Given the description of an element on the screen output the (x, y) to click on. 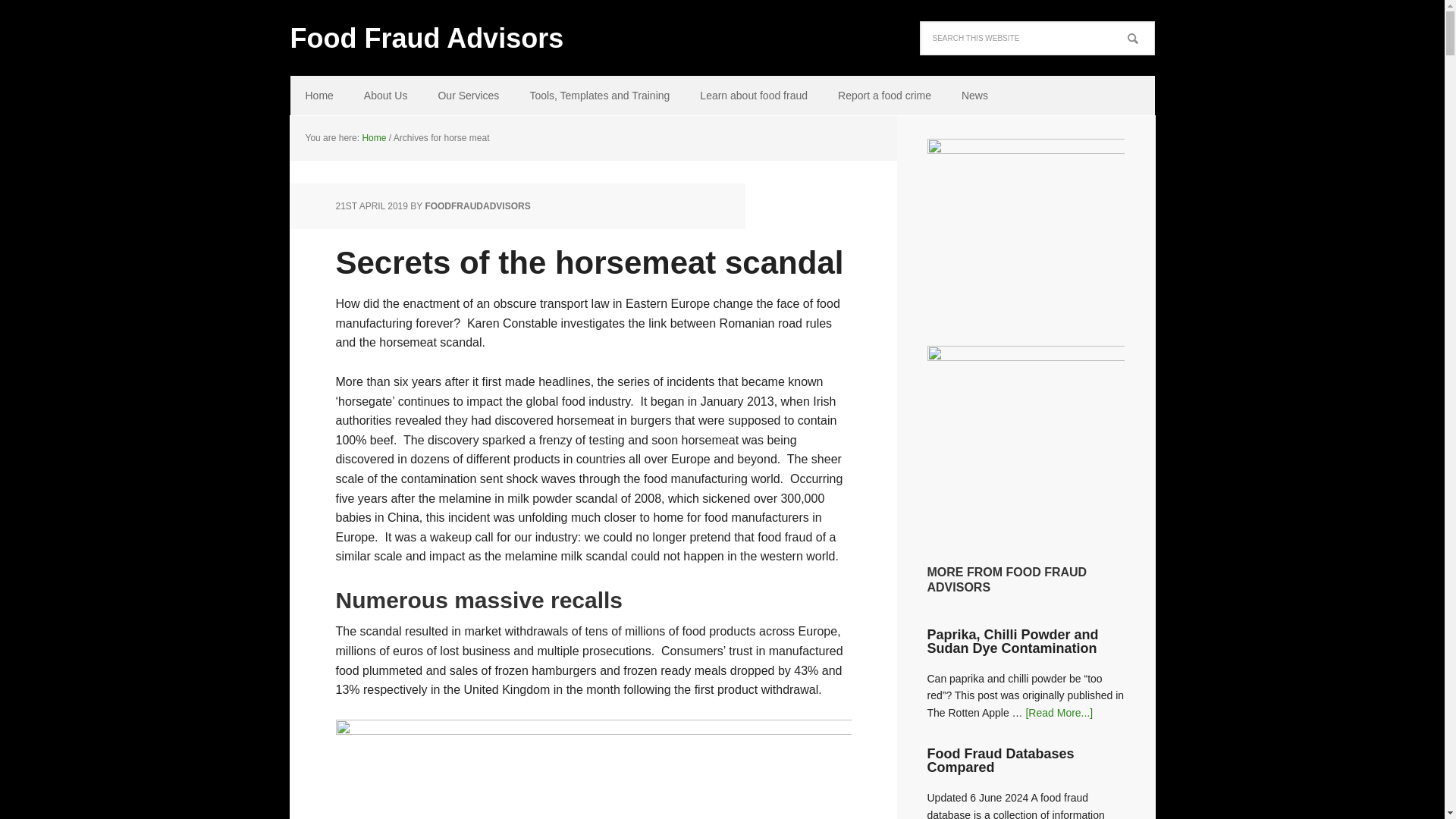
Food Fraud Advisors (448, 27)
Secrets of the horsemeat scandal (588, 262)
News (974, 96)
Home (318, 96)
Report a food crime (884, 96)
Tools, Templates and Training (598, 96)
About Us (386, 96)
Our Services (467, 96)
